Given the description of an element on the screen output the (x, y) to click on. 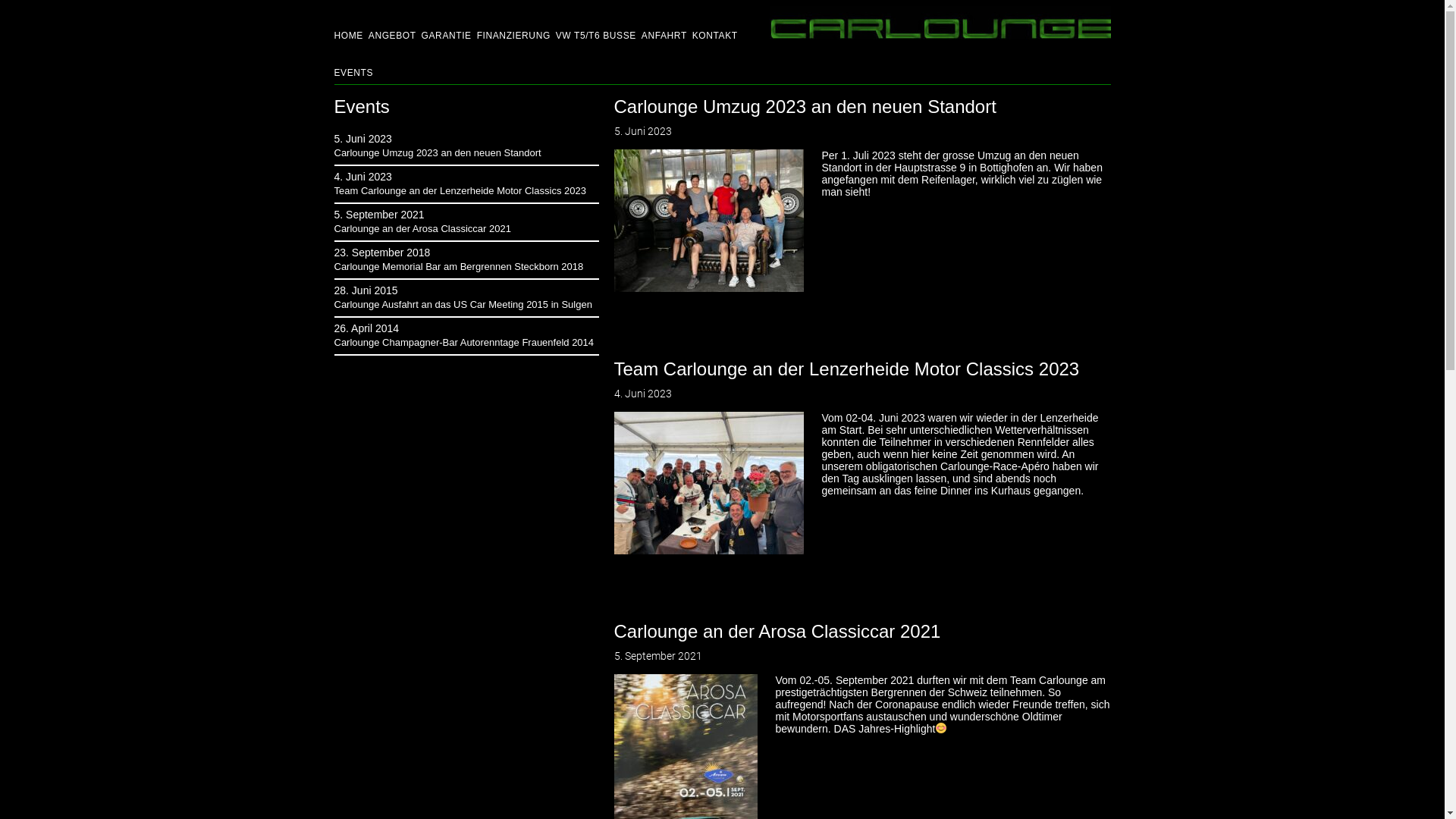
Carlounge Umzug 2023 an den neuen Standort Element type: text (805, 106)
Carlounge Umzug 2023 an den neuen Standort Element type: text (436, 152)
CARLOUNGE BOTTIGHOFEN Element type: text (939, 22)
Carlounge Ausfahrt an das US Car Meeting 2015 in Sulgen Element type: text (462, 304)
Carlounge Memorial Bar am Bergrennen Steckborn 2018 Element type: text (458, 266)
VW T5/T6 BUSSE Element type: text (596, 24)
Carlounge an der Arosa Classiccar 2021 Element type: text (777, 631)
ANGEBOT Element type: text (392, 24)
ANFAHRT Element type: text (664, 24)
FINANZIERUNG Element type: text (514, 24)
Carlounge Champagner-Bar Autorenntage Frauenfeld 2014 Element type: text (463, 342)
KONTAKT Element type: text (715, 24)
Team Carlounge an der Lenzerheide Motor Classics 2023 Element type: text (846, 368)
GARANTIE Element type: text (447, 24)
Team Carlounge an der Lenzerheide Motor Classics 2023 Element type: text (459, 190)
Carlounge an der Arosa Classiccar 2021 Element type: text (421, 228)
EVENTS Element type: text (353, 61)
HOME Element type: text (348, 24)
